Given the description of an element on the screen output the (x, y) to click on. 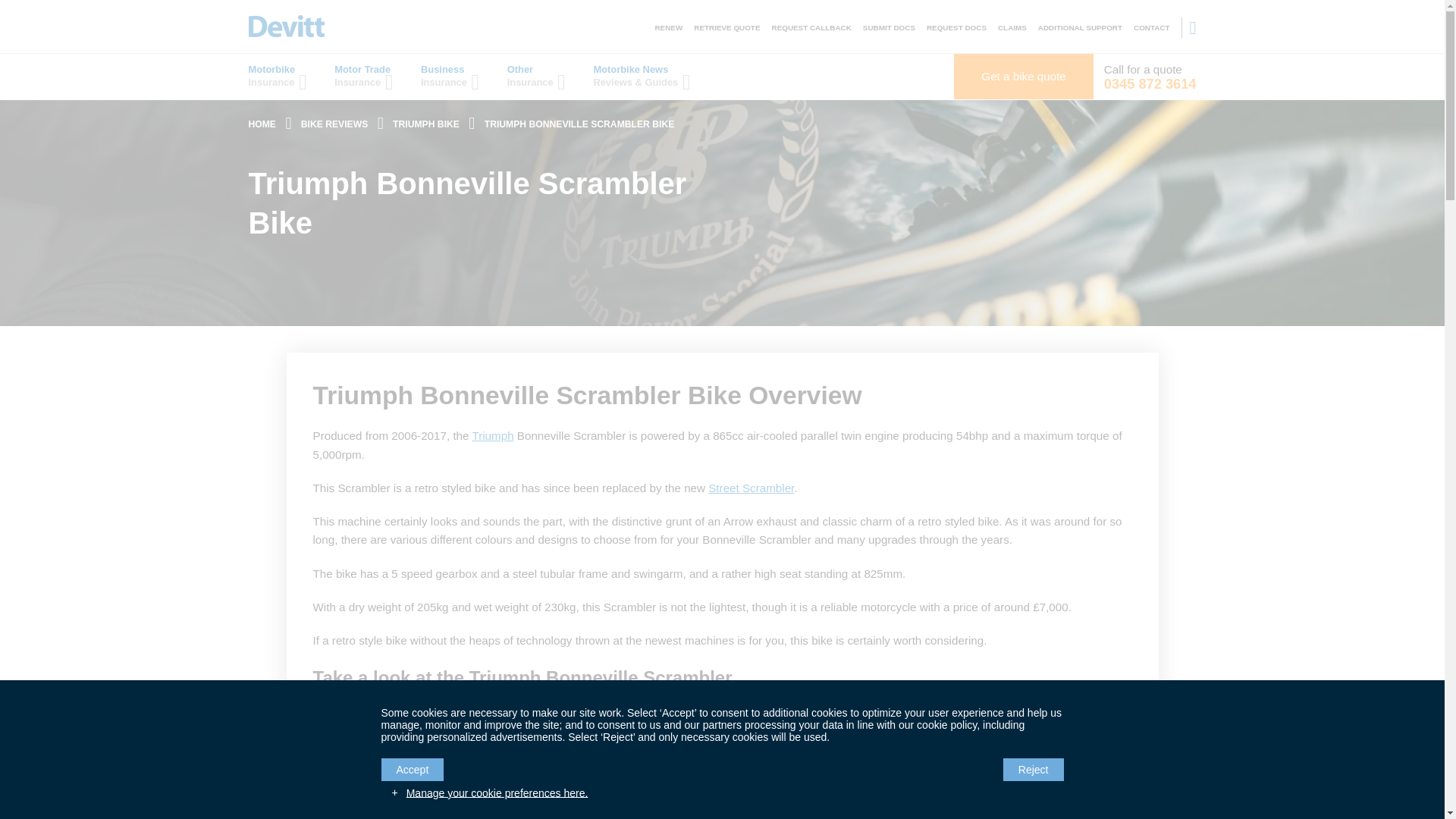
REQUEST CALLBACK (811, 27)
CLAIMS (1011, 27)
Return to Devitt Insurance homepage (262, 123)
RETRIEVE QUOTE (727, 27)
SUBMIT DOCS (889, 27)
Triumph Bike (426, 123)
CONTACT (1152, 27)
Return to Devitt Insurance homepage (286, 26)
REQUEST DOCS (956, 27)
ADDITIONAL SUPPORT (1080, 27)
RENEW (667, 27)
